Given the description of an element on the screen output the (x, y) to click on. 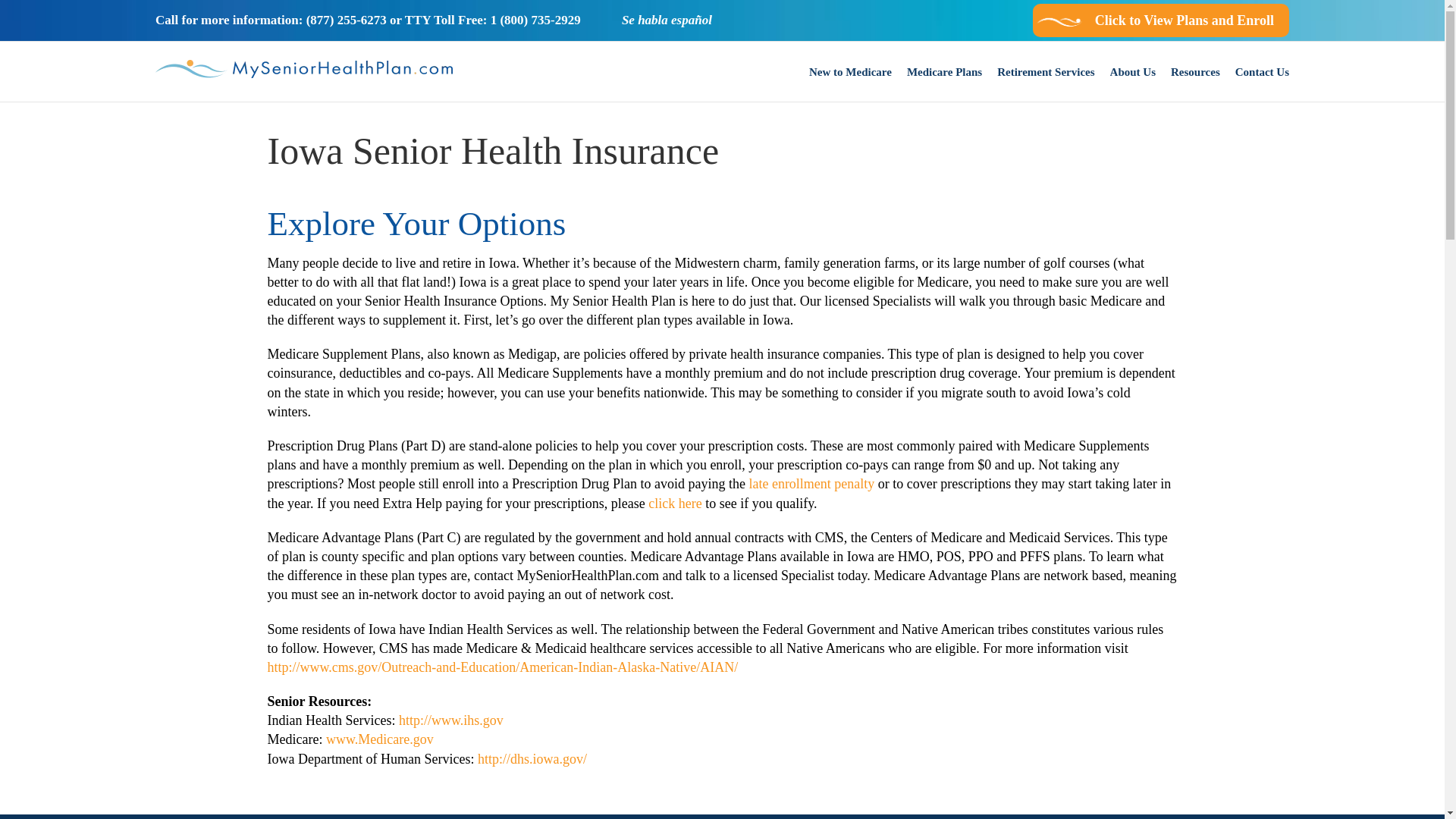
Retirement Services (1045, 70)
Medicare Plans (944, 70)
Click to View Plans and Enroll (1160, 20)
New to Medicare (850, 70)
